Given the description of an element on the screen output the (x, y) to click on. 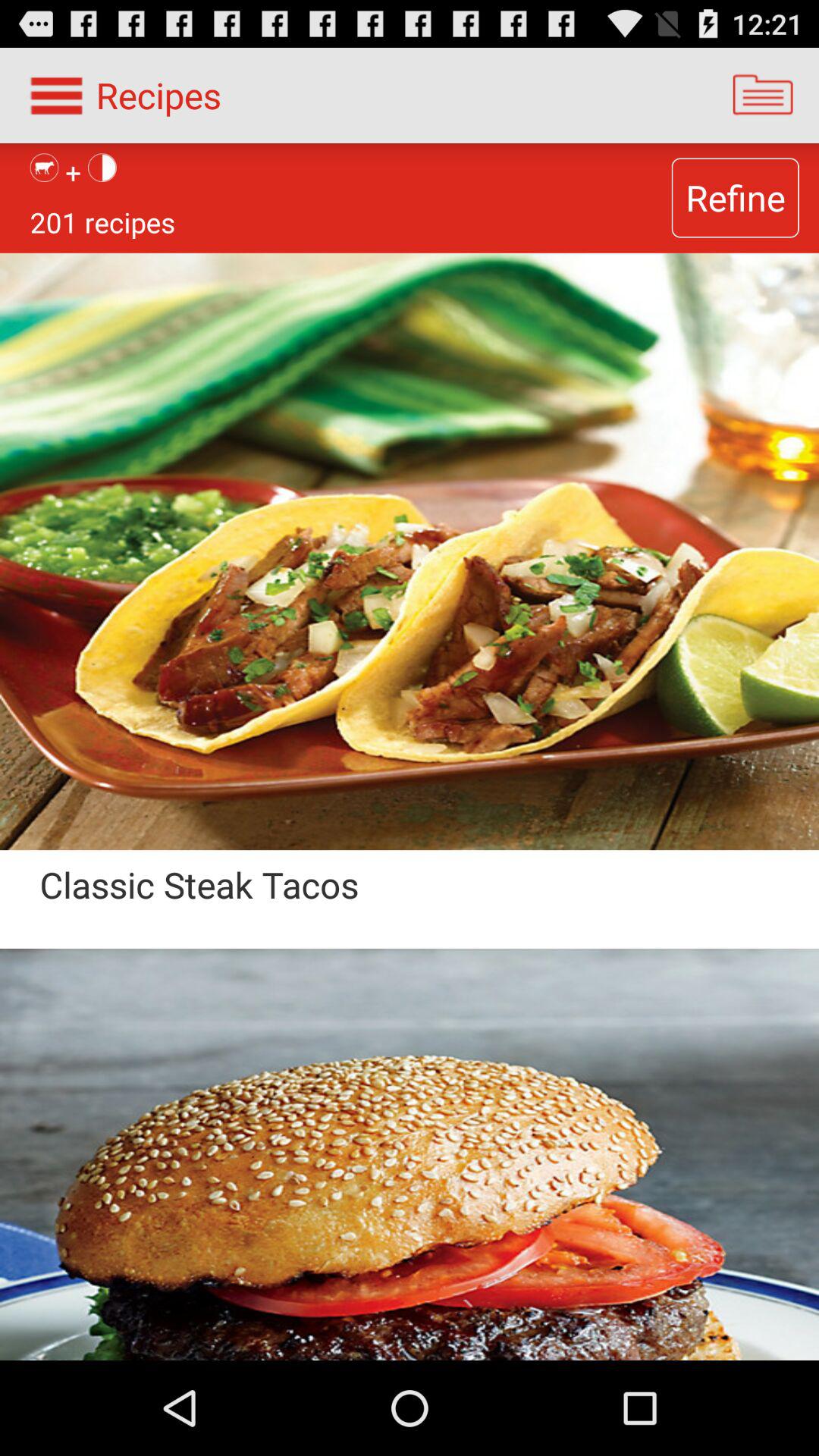
jump to the refine button (735, 197)
